Given the description of an element on the screen output the (x, y) to click on. 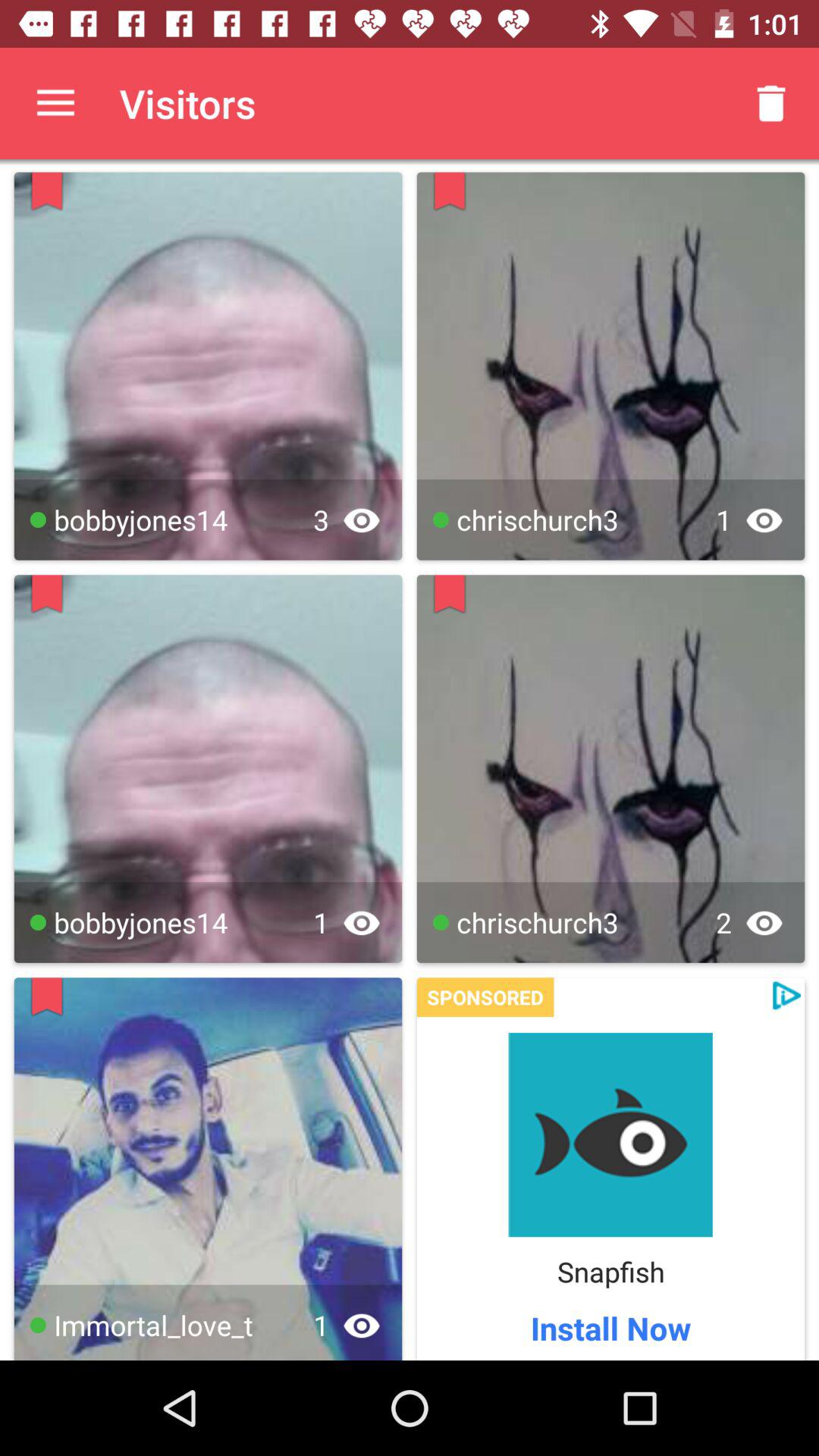
install the app (610, 1134)
